Given the description of an element on the screen output the (x, y) to click on. 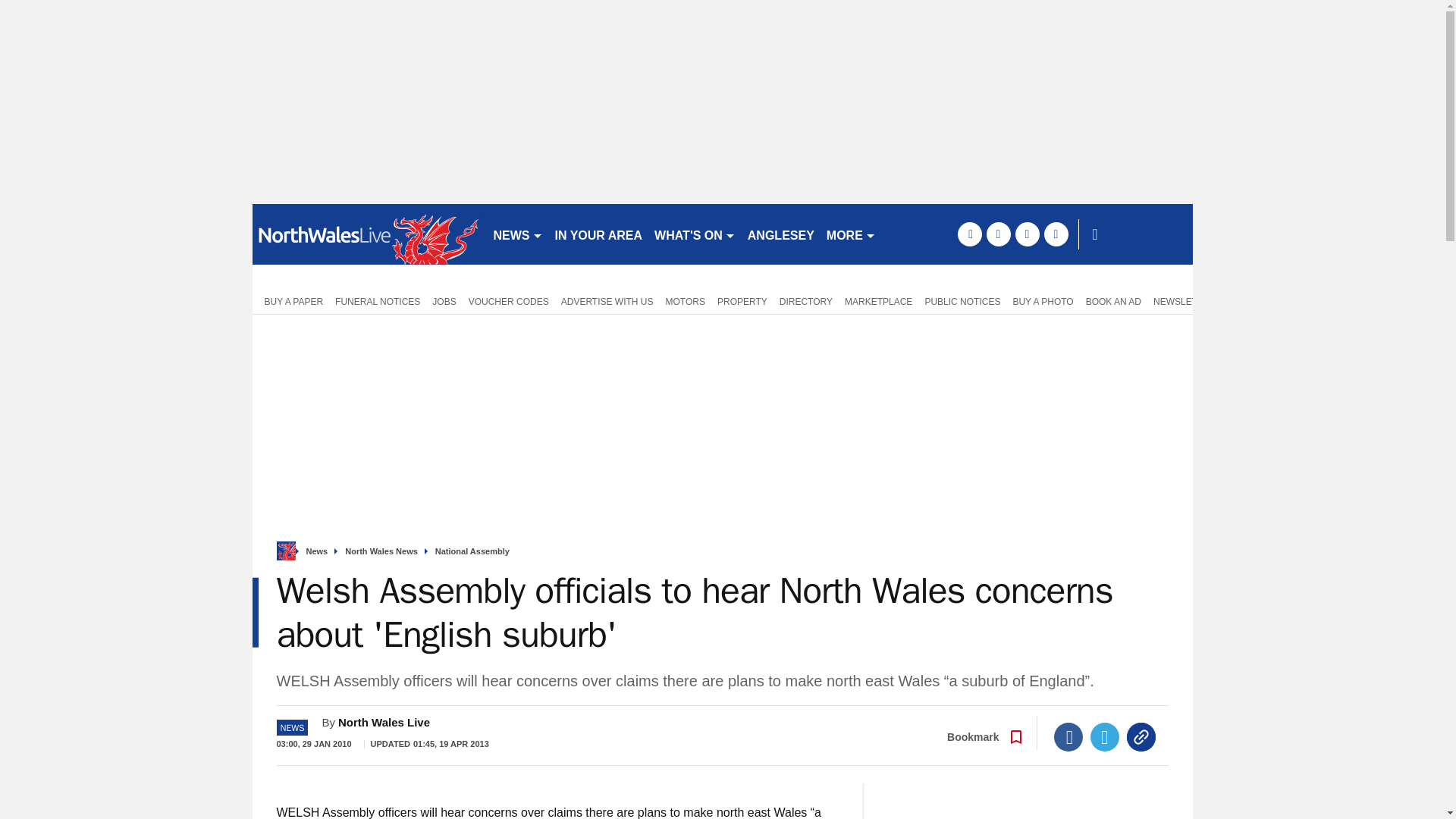
MORE (851, 233)
BUY A PAPER (290, 300)
FUNERAL NOTICES (377, 300)
MOTORS (685, 300)
facebook (968, 233)
JOBS (443, 300)
ANGLESEY (781, 233)
northwales (365, 233)
WHAT'S ON (694, 233)
Twitter (1104, 736)
ADVERTISE WITH US (606, 300)
IN YOUR AREA (598, 233)
VOUCHER CODES (508, 300)
NEWS (517, 233)
instagram (1055, 233)
